Given the description of an element on the screen output the (x, y) to click on. 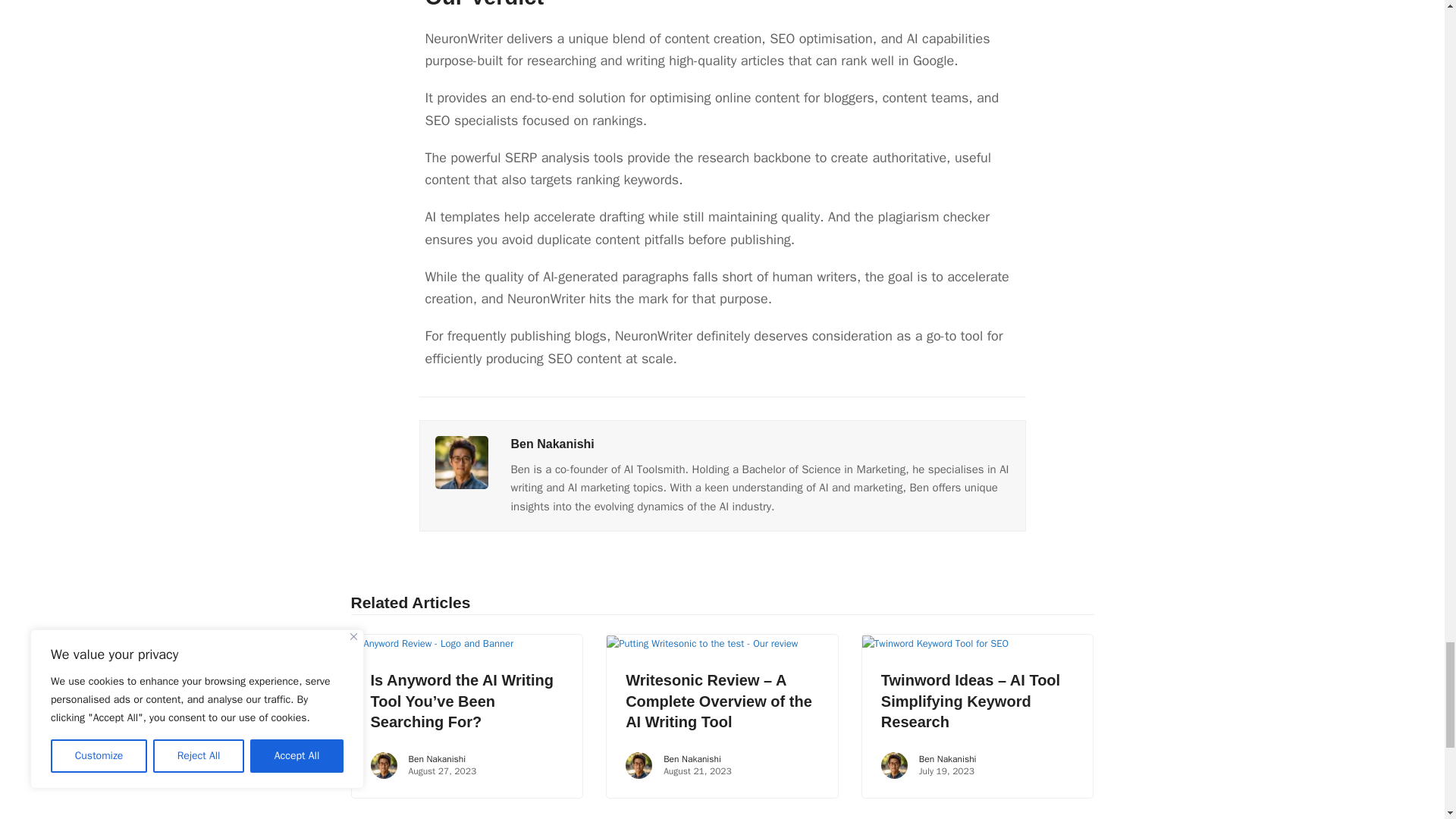
Visit Author Page (552, 443)
Visit Author Page (461, 461)
